Given the description of an element on the screen output the (x, y) to click on. 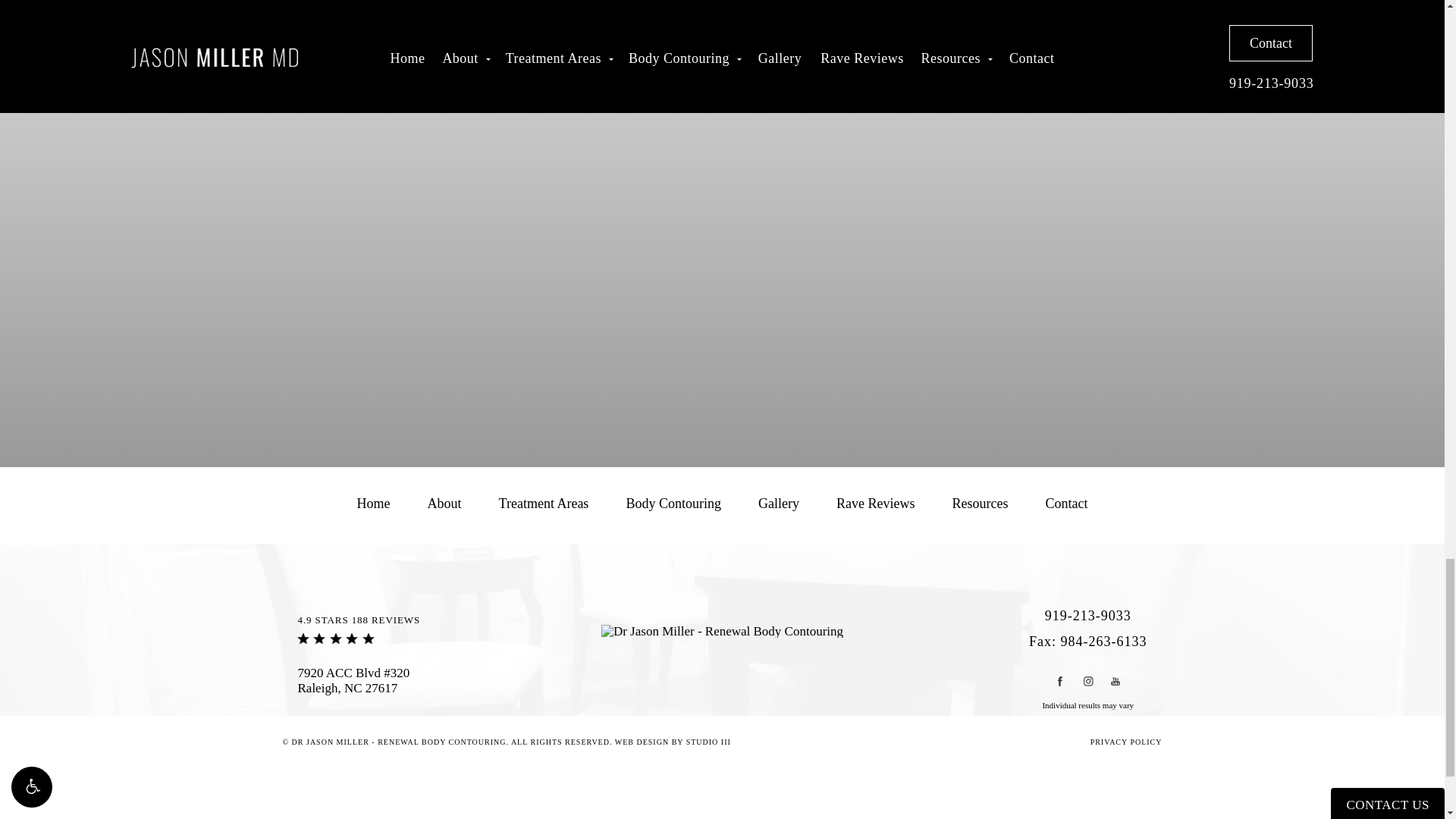
Dr Jason Miller - Renewal Body Contouring (722, 631)
